Given the description of an element on the screen output the (x, y) to click on. 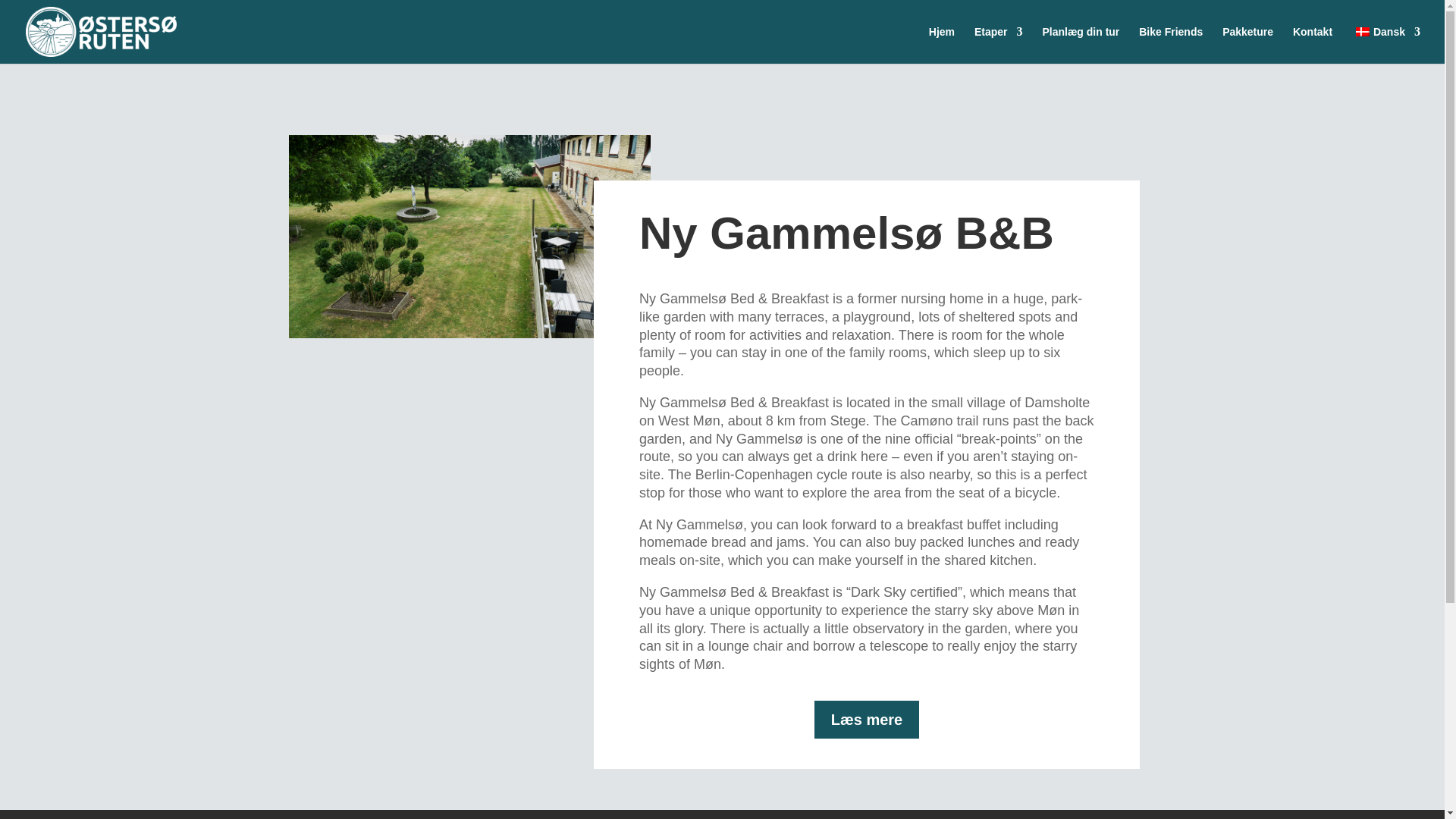
Dansk (1386, 44)
Bike Friends (1170, 44)
Hjem (941, 44)
Kontakt (1312, 44)
Pakketure (1247, 44)
Dansk (1362, 31)
Etaper (998, 44)
